Given the description of an element on the screen output the (x, y) to click on. 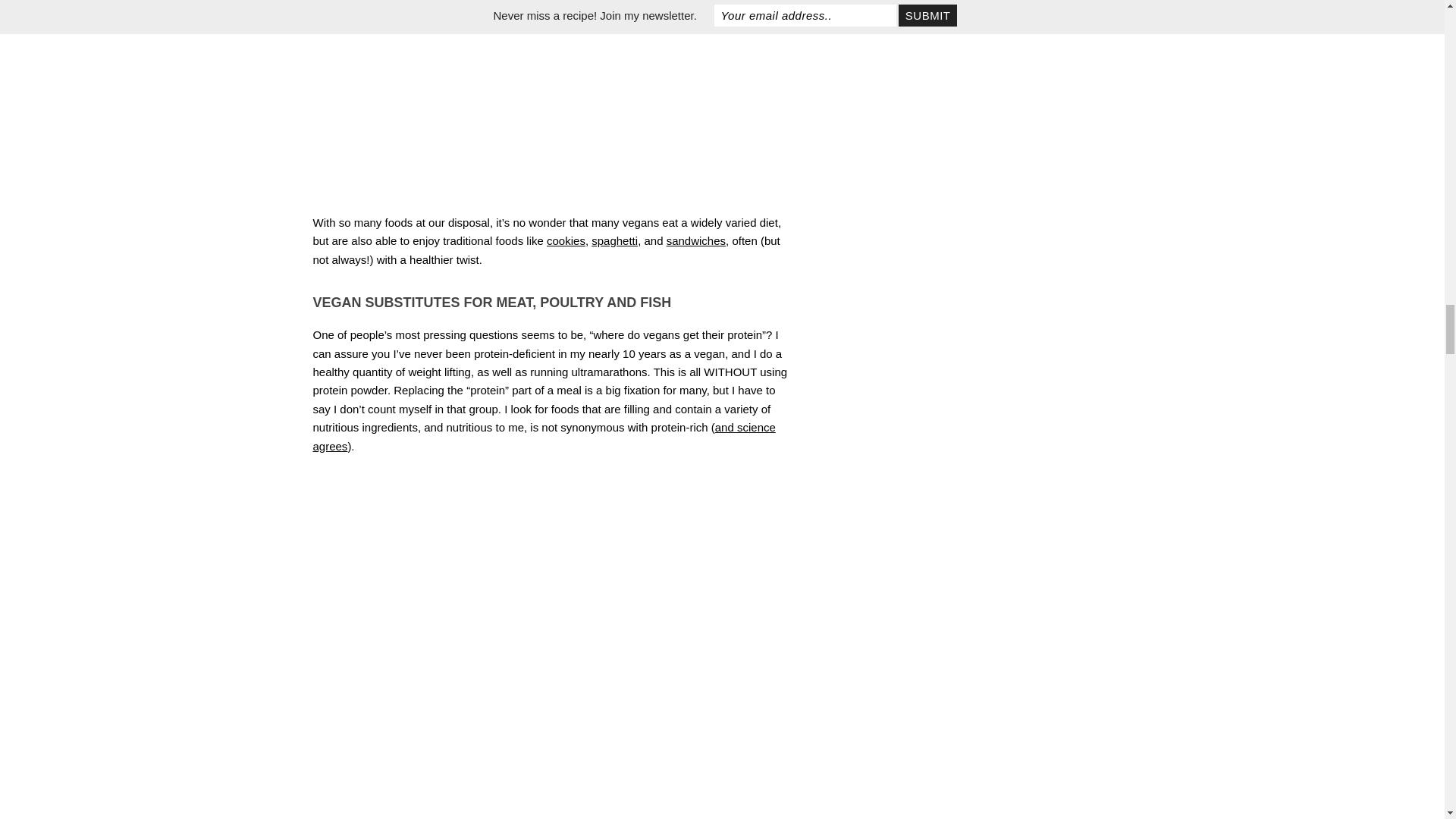
and science agrees (543, 436)
cookies (566, 240)
sandwiches (695, 240)
spaghetti (614, 240)
Pesto Chickpea Salad Sandwiches (553, 2)
